Given the description of an element on the screen output the (x, y) to click on. 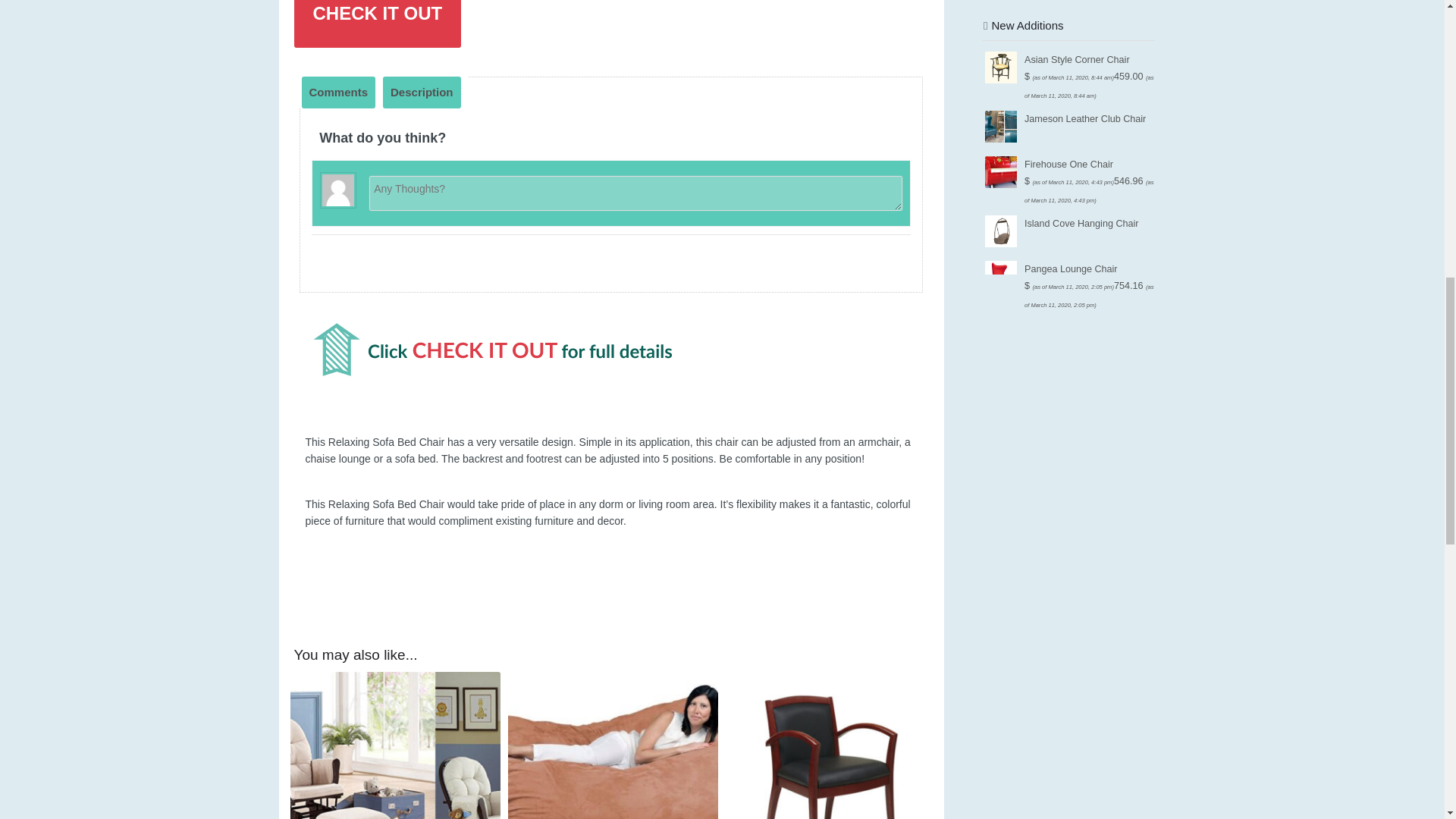
Description (421, 92)
CHECK IT OUT (377, 23)
Comments (338, 92)
